Given the description of an element on the screen output the (x, y) to click on. 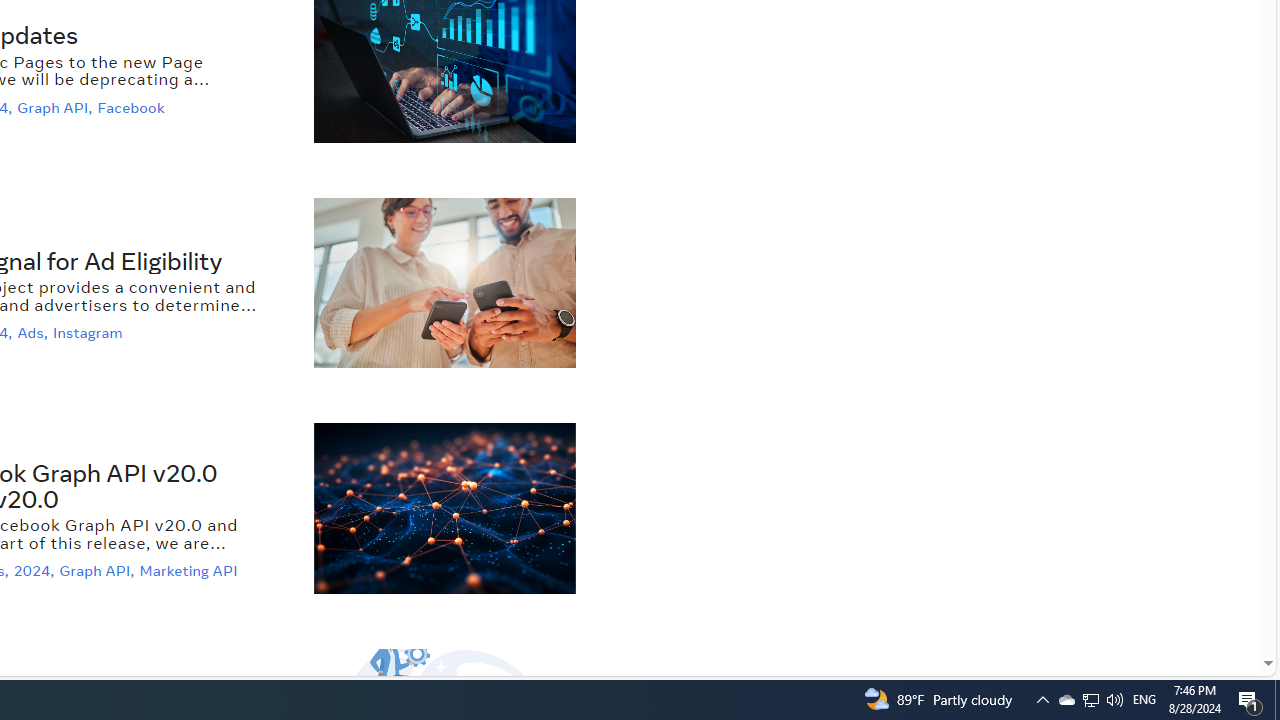
Ads, (34, 333)
2024, (36, 571)
Instagram (90, 333)
Facebook (133, 106)
Marketing API (191, 571)
Graph API, (98, 571)
